Given the description of an element on the screen output the (x, y) to click on. 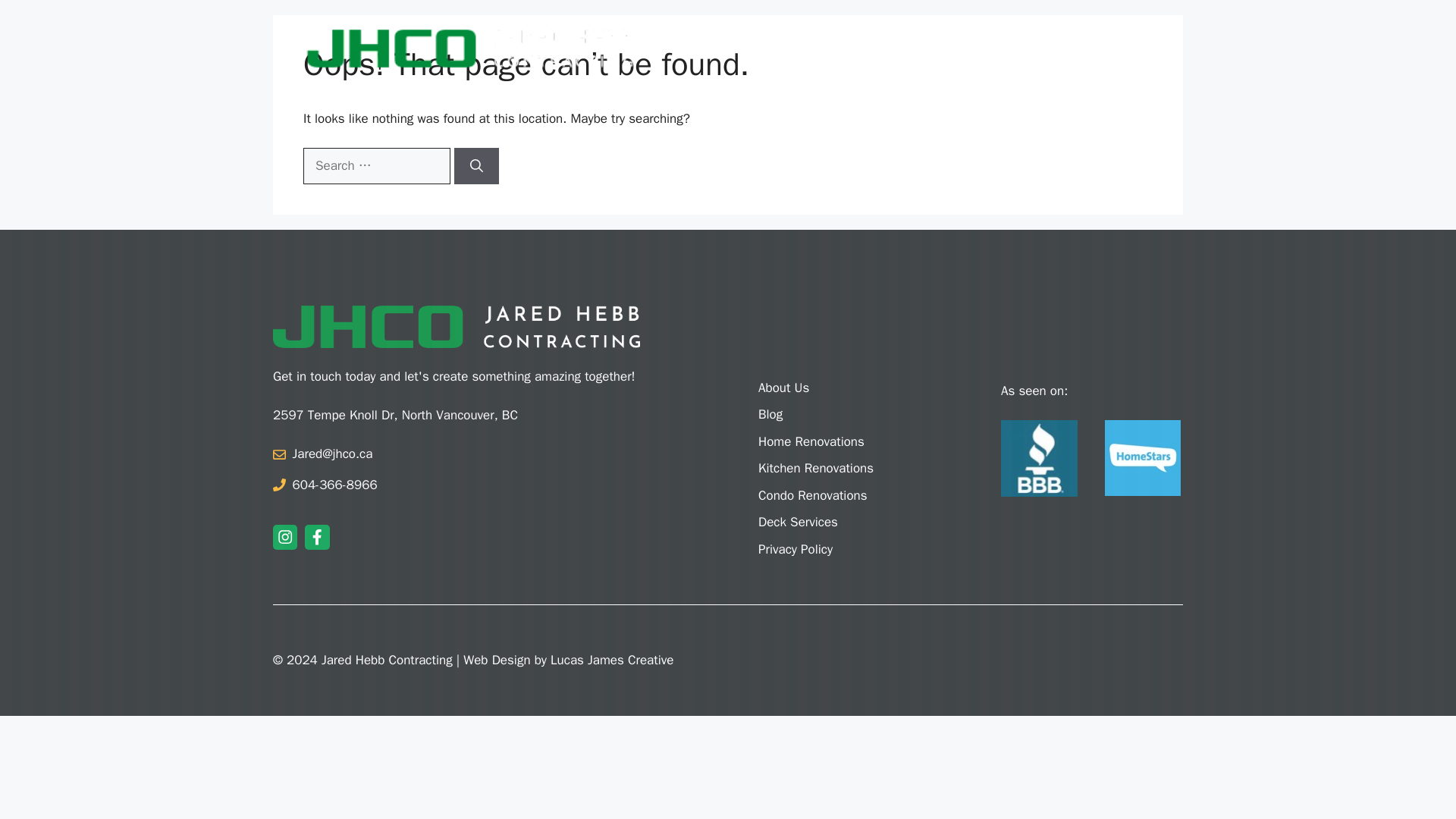
Kitchen Renovations (849, 468)
Search for: (375, 166)
Blog (1057, 48)
Lucas James Creative (611, 659)
Deck Services (849, 522)
Home Renovations (849, 442)
Gallery (1000, 48)
Contact (1118, 48)
Condo Renovations (849, 496)
Blog (849, 414)
604-366-8966 (334, 484)
About (847, 48)
About Us (849, 368)
Services (922, 48)
Privacy Policy (849, 549)
